Given the description of an element on the screen output the (x, y) to click on. 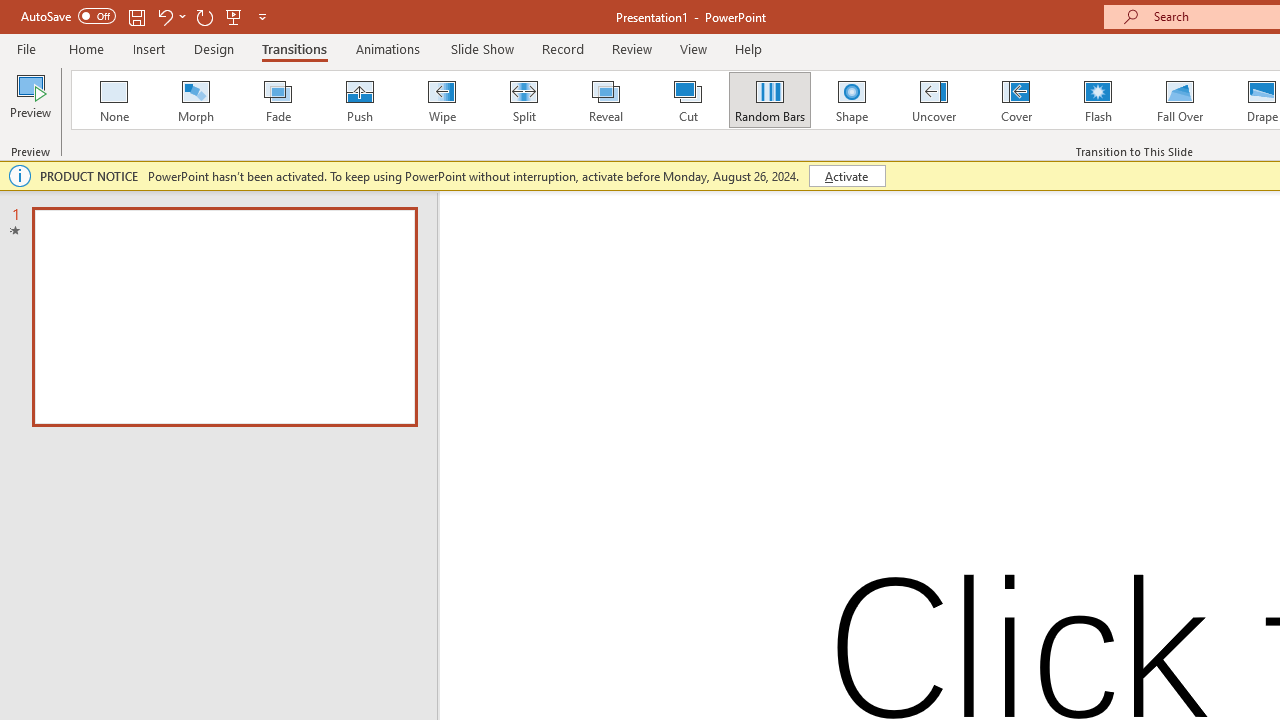
Reveal (605, 100)
Fall Over (1180, 100)
Activate (846, 175)
Morph (195, 100)
